Given the description of an element on the screen output the (x, y) to click on. 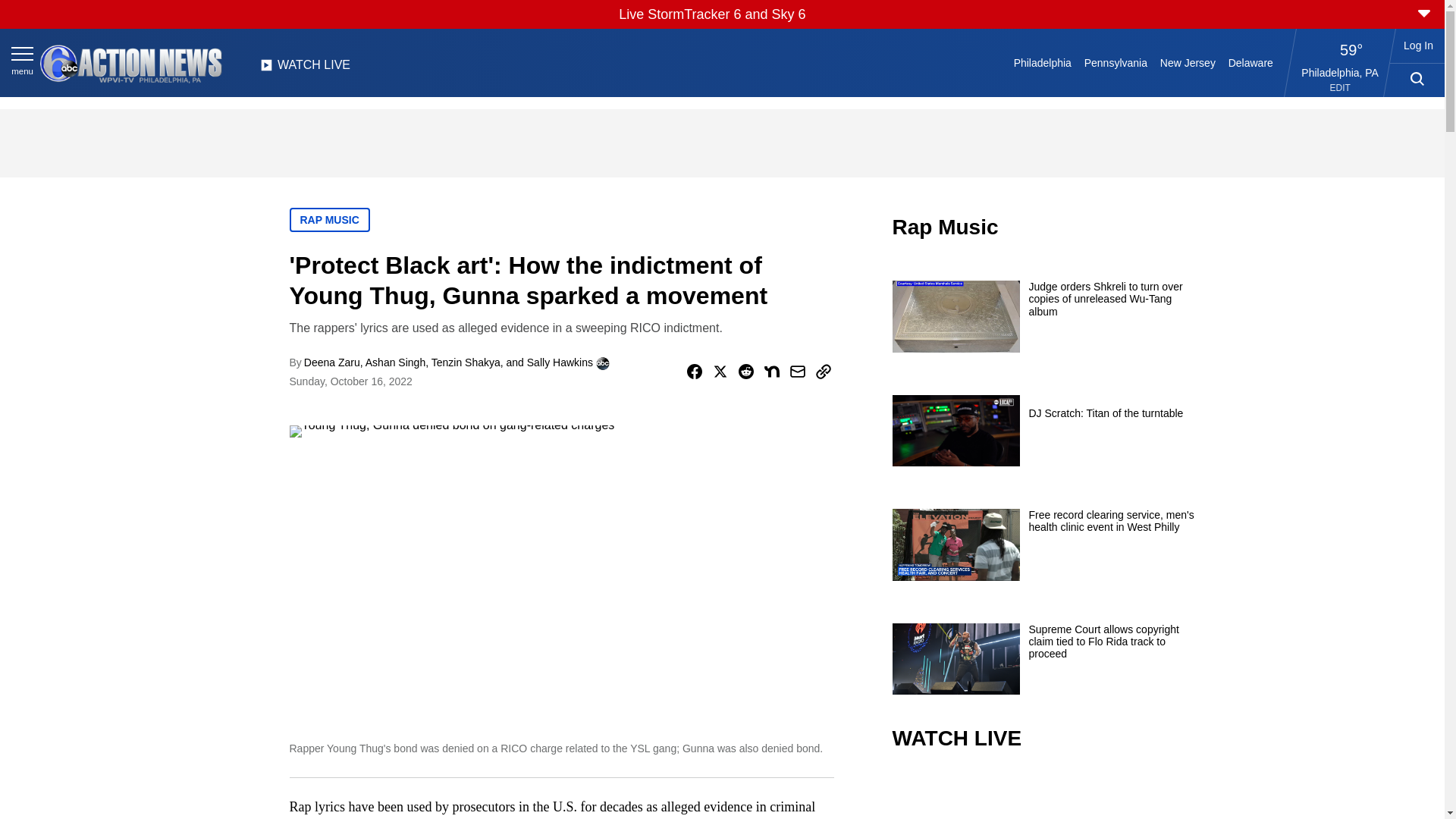
Philadelphia (1042, 62)
Delaware (1250, 62)
EDIT (1340, 87)
Philadelphia, PA (1339, 72)
WATCH LIVE (305, 69)
Pennsylvania (1115, 62)
video.title (1043, 796)
New Jersey (1187, 62)
